Given the description of an element on the screen output the (x, y) to click on. 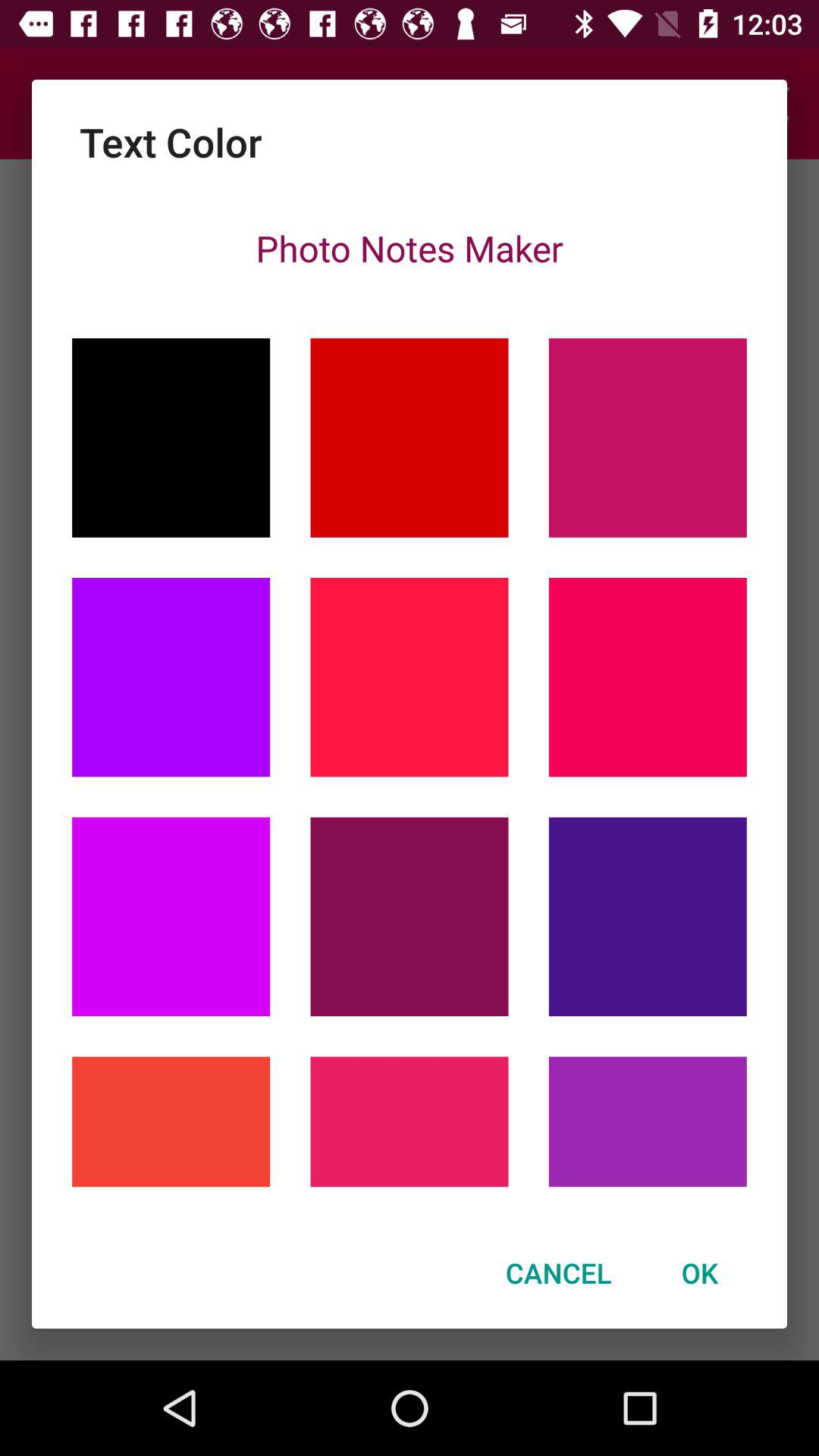
scroll to cancel (558, 1272)
